Given the description of an element on the screen output the (x, y) to click on. 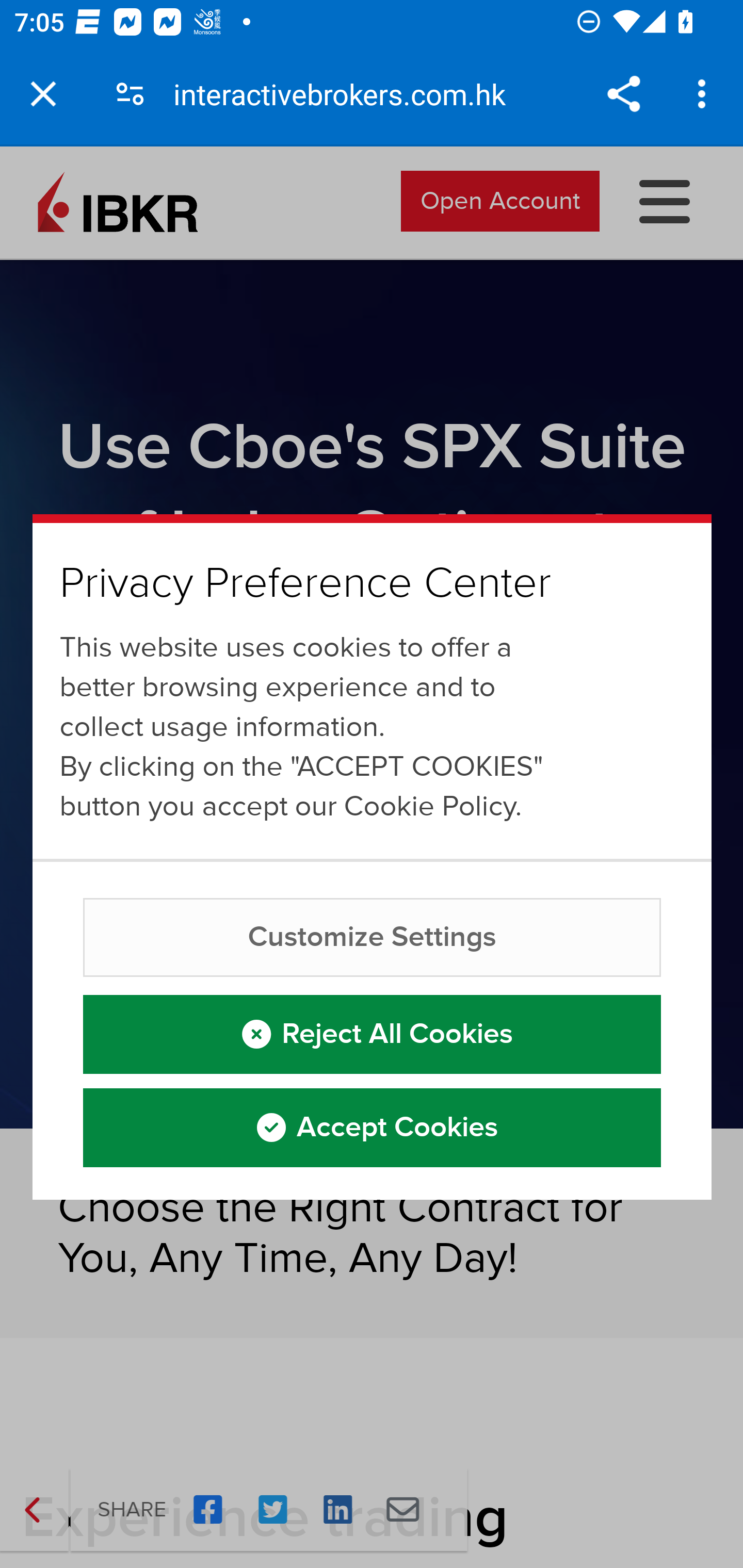
Customize Settings (372, 937)
 Reject All Cookies  Reject All Cookies (372, 1033)
 Accept Cookies  Accept Cookies (372, 1127)
